Given the description of an element on the screen output the (x, y) to click on. 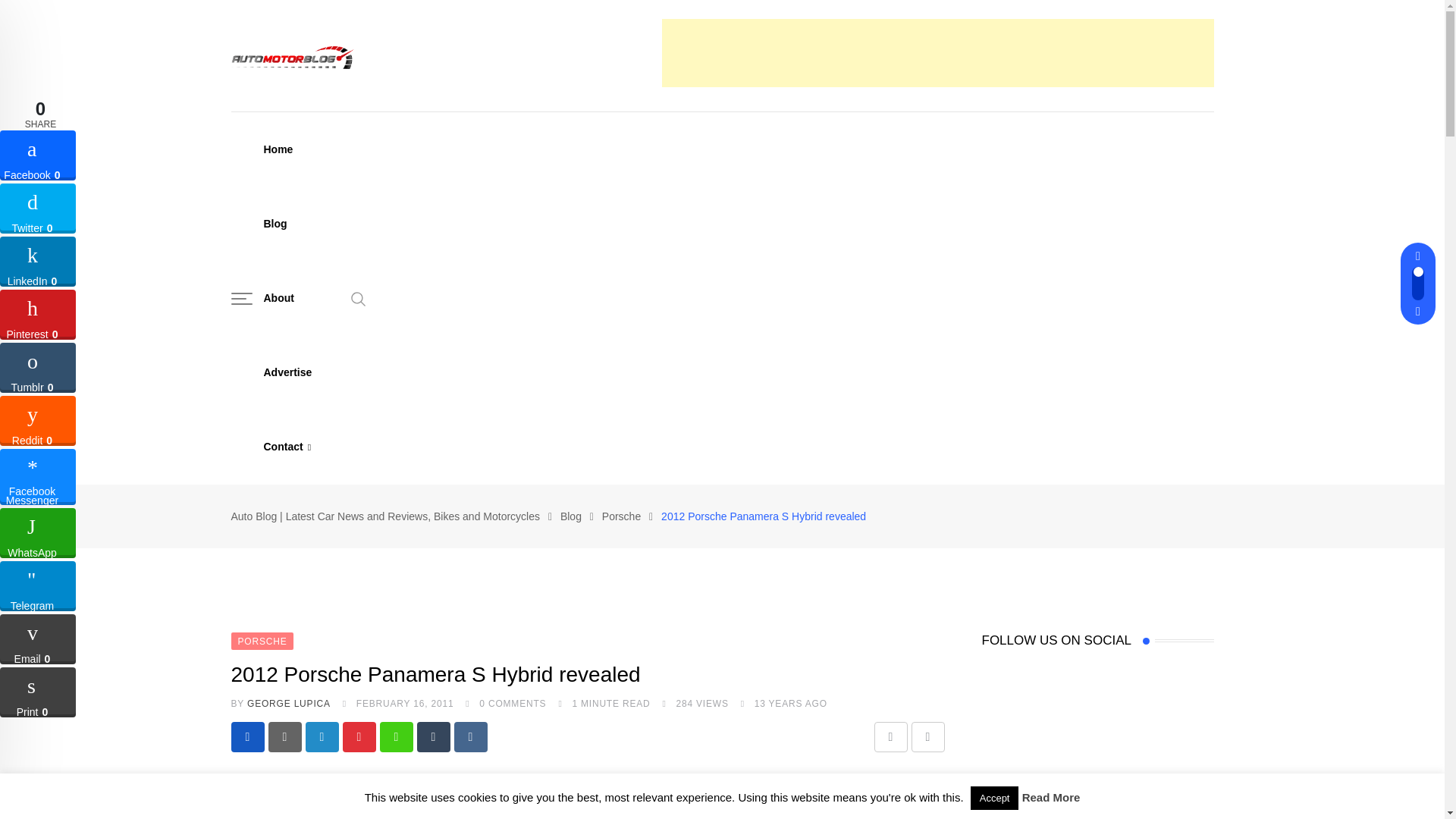
Go to Blog. (570, 516)
Sign Up Now (1027, 551)
on (986, 512)
Advertise (287, 371)
Advertisement (936, 52)
Go to the Porsche Category archives. (621, 516)
Posts by George Lupica (288, 703)
Contact (286, 446)
